Given the description of an element on the screen output the (x, y) to click on. 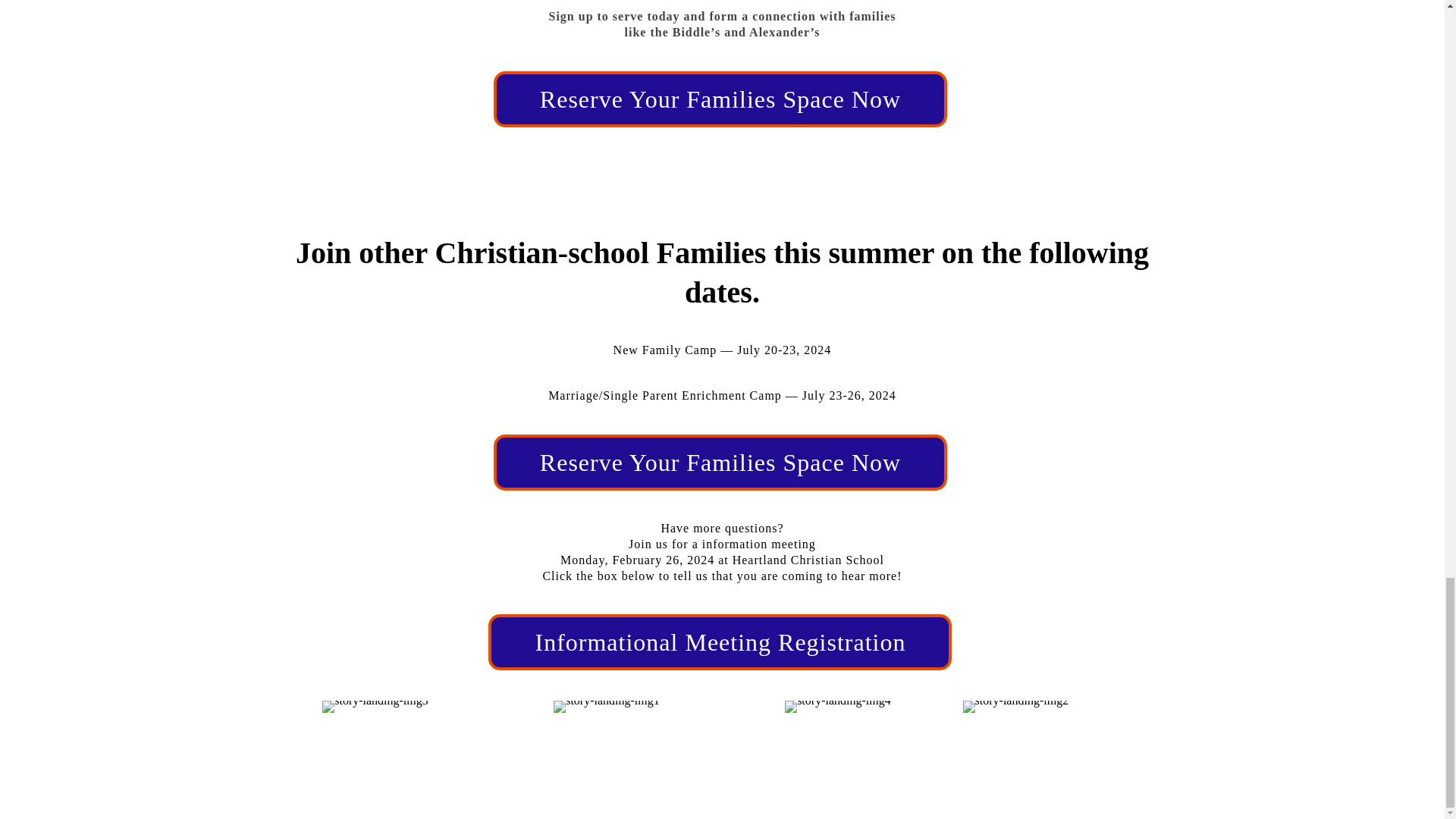
Reserve Your Families Space Now (720, 99)
Reserve Your Families Space Now (720, 462)
Informational Meeting Registration (719, 642)
